Given the description of an element on the screen output the (x, y) to click on. 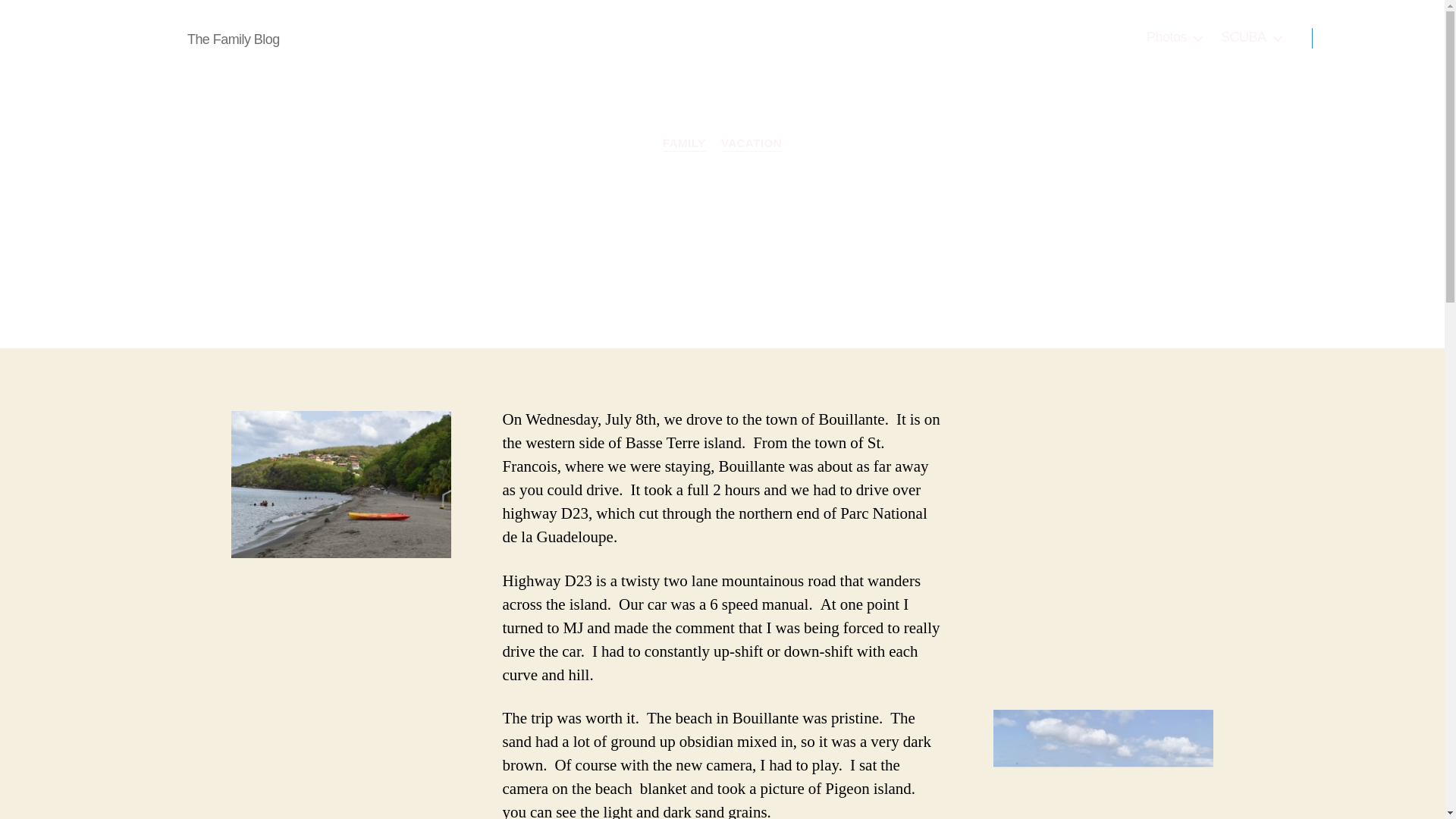
Search (1350, 37)
SCUBA (1251, 37)
Photos (1174, 37)
Petersen's (126, 37)
